Given the description of an element on the screen output the (x, y) to click on. 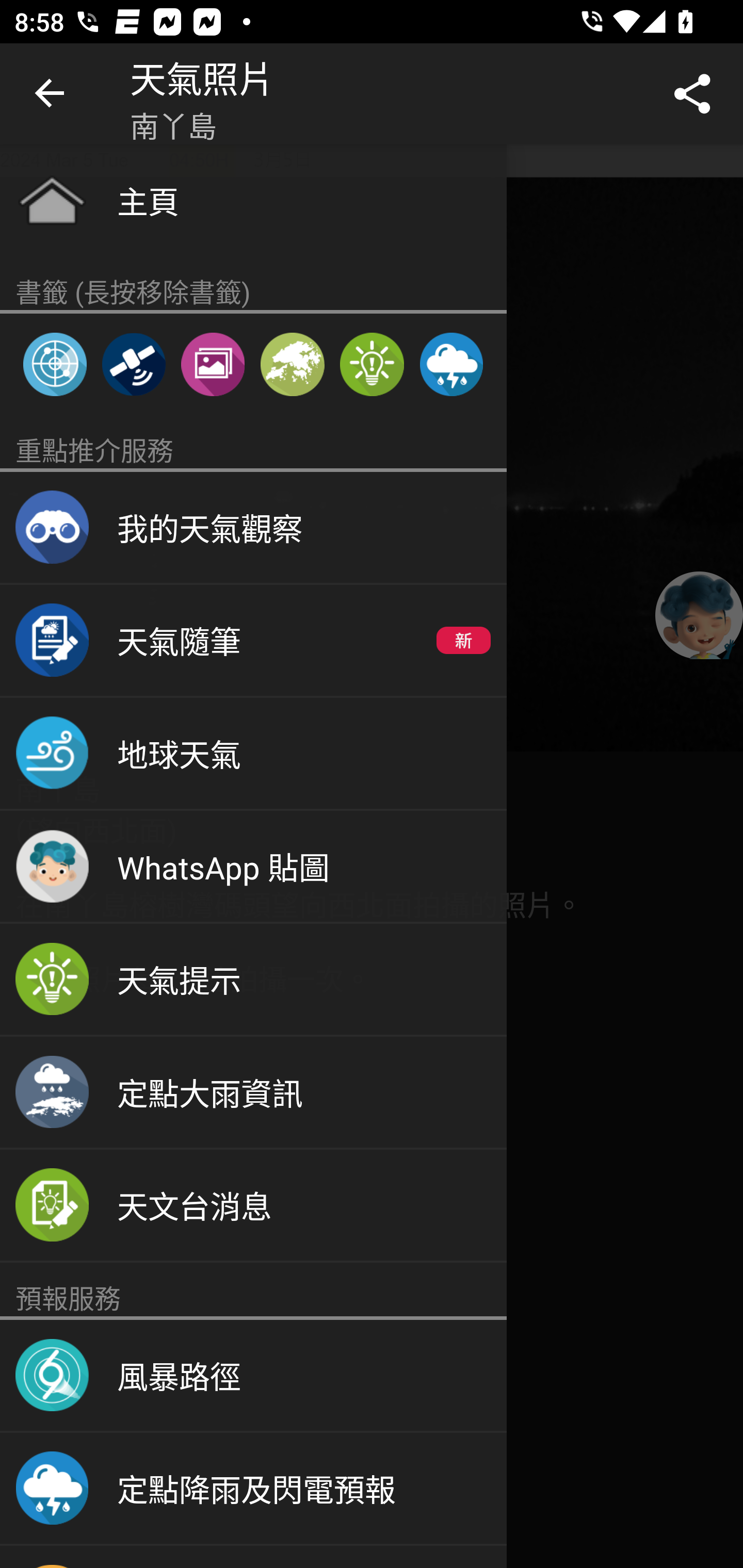
向上瀏覽 (50, 93)
分享 (692, 93)
主頁 (253, 199)
雷達圖像 (54, 364)
衛星圖像 (133, 364)
天氣照片 (212, 364)
分區天氣 (292, 364)
天氣提示 (371, 364)
定點降雨及閃電預報 (451, 364)
我的天氣觀察 (253, 527)
天氣隨筆 新功能 (253, 640)
地球天氣 (253, 753)
WhatsApp 貼圖 (253, 866)
天氣提示 (253, 979)
定點大雨資訊 (253, 1092)
天文台消息 (253, 1205)
風暴路徑 (253, 1375)
定點降雨及閃電預報 (253, 1488)
